Given the description of an element on the screen output the (x, y) to click on. 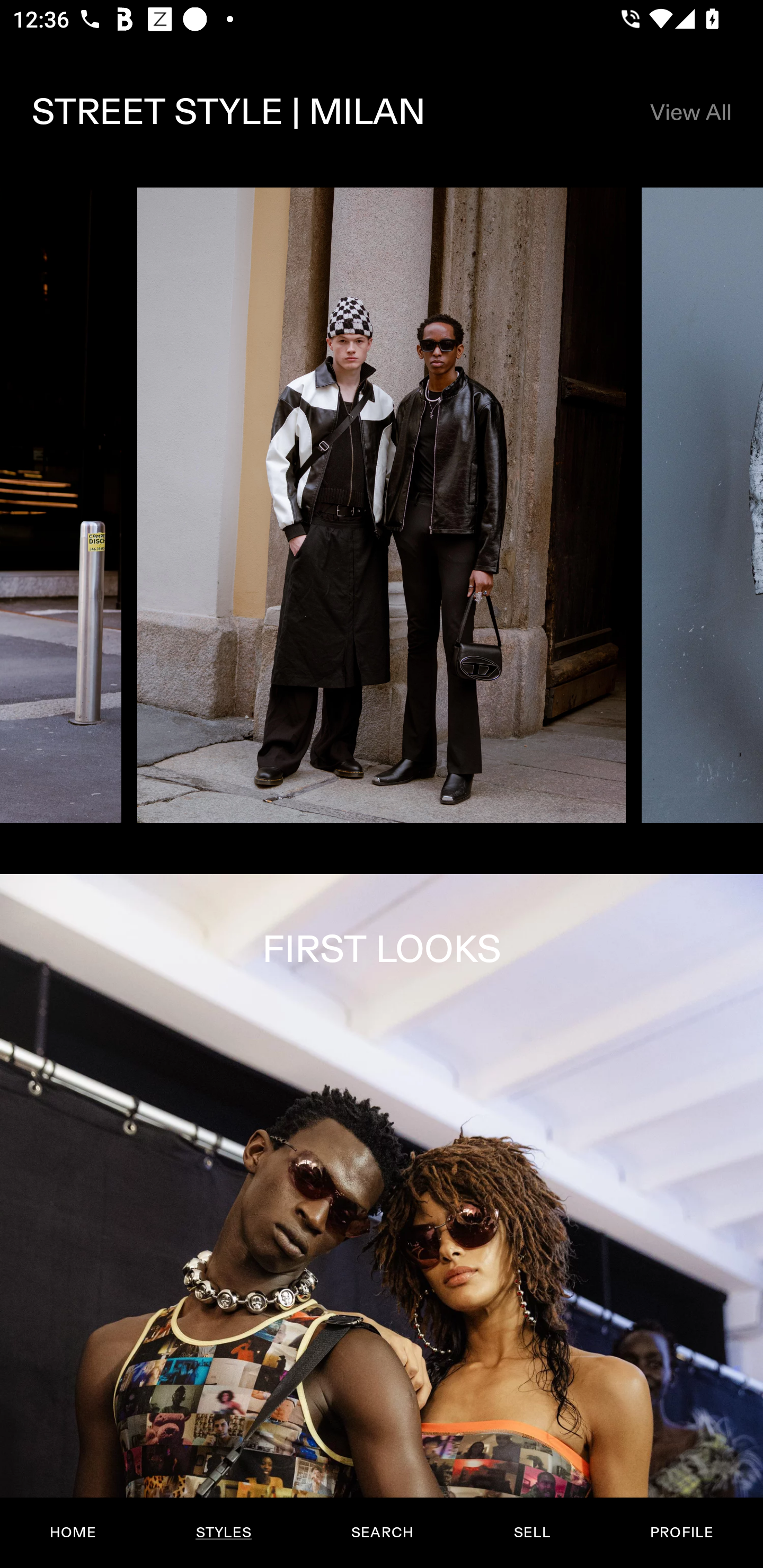
View All (690, 112)
FIRST LOOKS DIESEL FALL '24 (381, 1220)
HOME (72, 1532)
STYLES (222, 1532)
SEARCH (381, 1532)
SELL (531, 1532)
PROFILE (681, 1532)
